Given the description of an element on the screen output the (x, y) to click on. 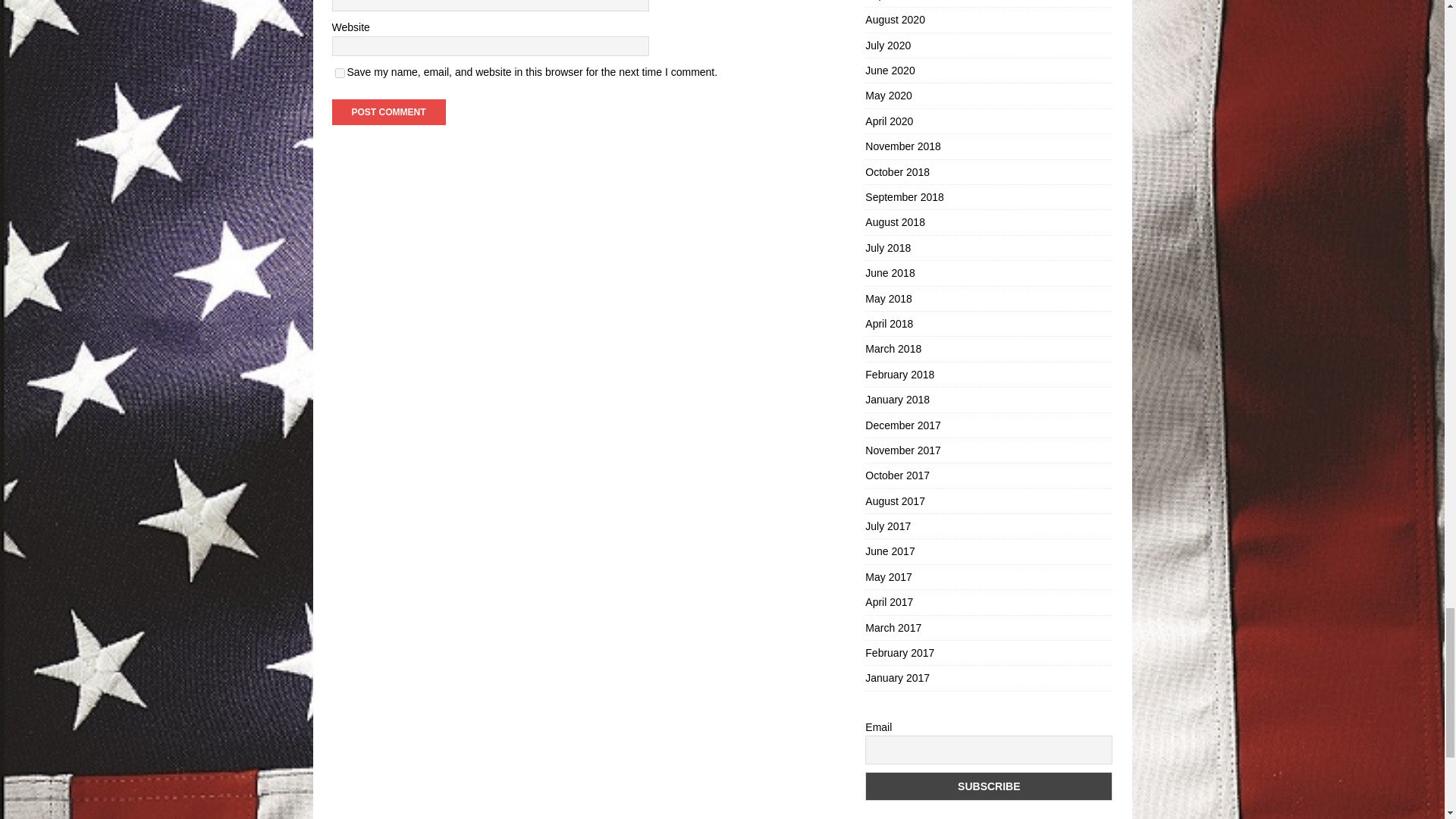
yes (339, 72)
Subscribe (988, 786)
Post Comment (388, 112)
